Given the description of an element on the screen output the (x, y) to click on. 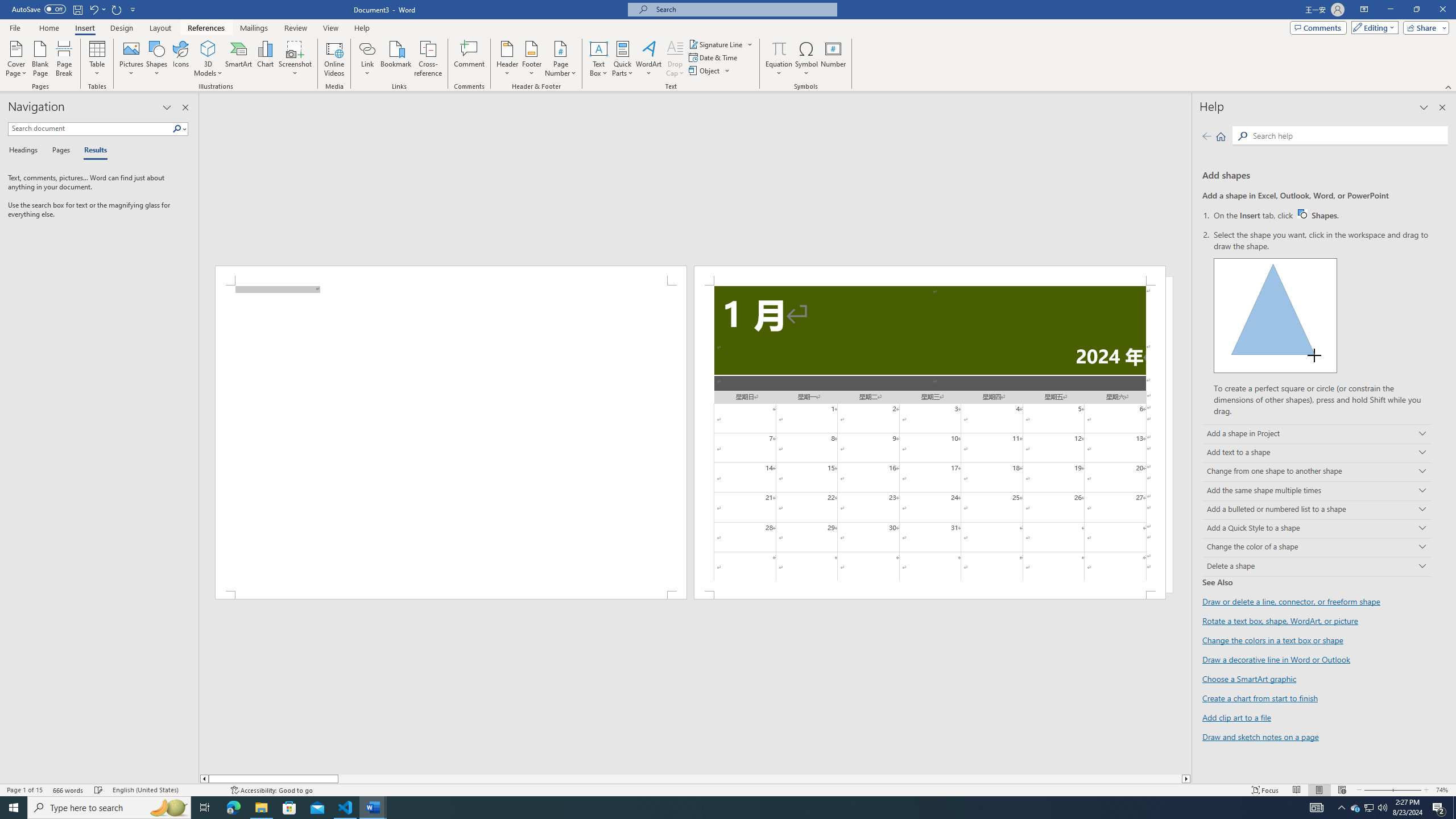
Add a bulleted or numbered list to a shape (1316, 510)
Undo New Page (96, 9)
Chart... (265, 58)
WordArt (648, 58)
Column right (1186, 778)
Page Number (560, 58)
